Given the description of an element on the screen output the (x, y) to click on. 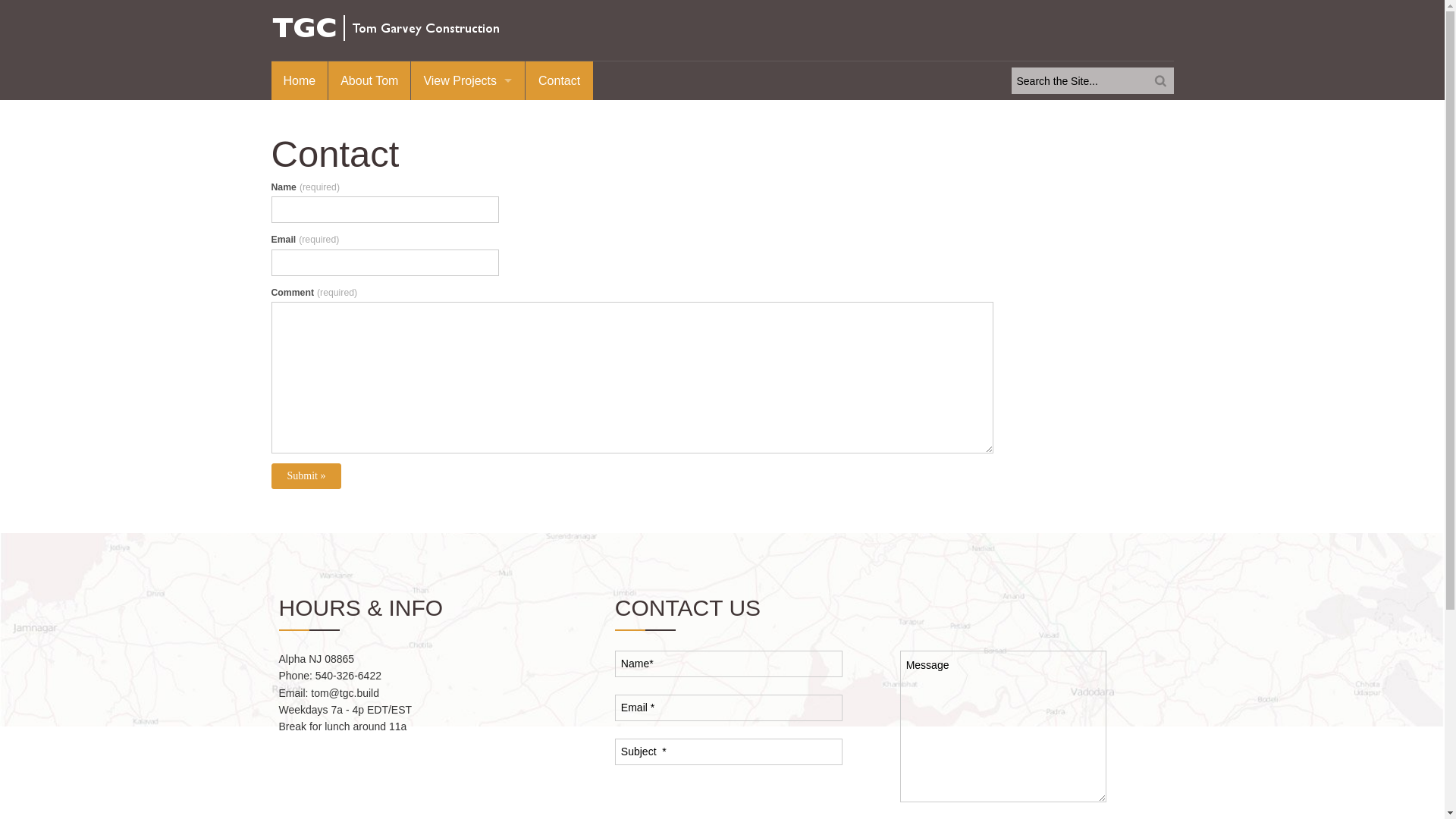
Search Element type: text (28, 10)
Contact Element type: text (559, 80)
Kitchen & Bath Element type: text (467, 216)
Exterior Element type: text (467, 164)
View Projects Element type: text (467, 80)
Stone Work Element type: text (467, 241)
Alpha NJ 08865 Element type: text (316, 658)
Furniture Element type: text (467, 190)
About Tom Element type: text (369, 80)
All Projects Element type: text (467, 112)
Interior Element type: text (467, 138)
Home Element type: text (299, 80)
